Given the description of an element on the screen output the (x, y) to click on. 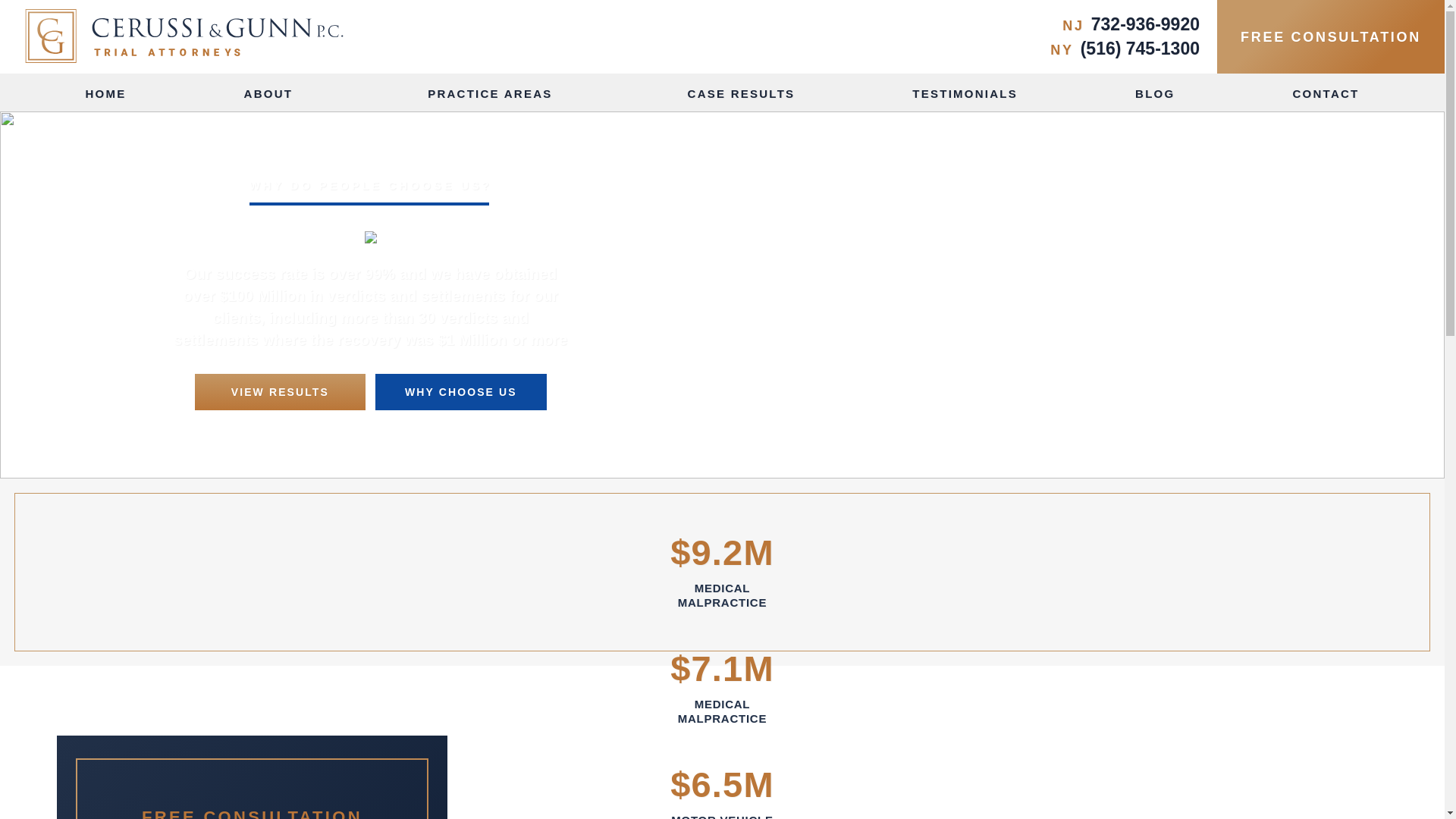
VIEW RESULTS (280, 391)
PRACTICE AREAS (498, 92)
TESTIMONIALS (964, 92)
HOME (104, 92)
ABOUT (277, 92)
CASE RESULTS (740, 92)
732-936-9920 (1144, 24)
WHY CHOOSE US (461, 391)
BLOG (1154, 92)
CONTACT (1325, 92)
